Given the description of an element on the screen output the (x, y) to click on. 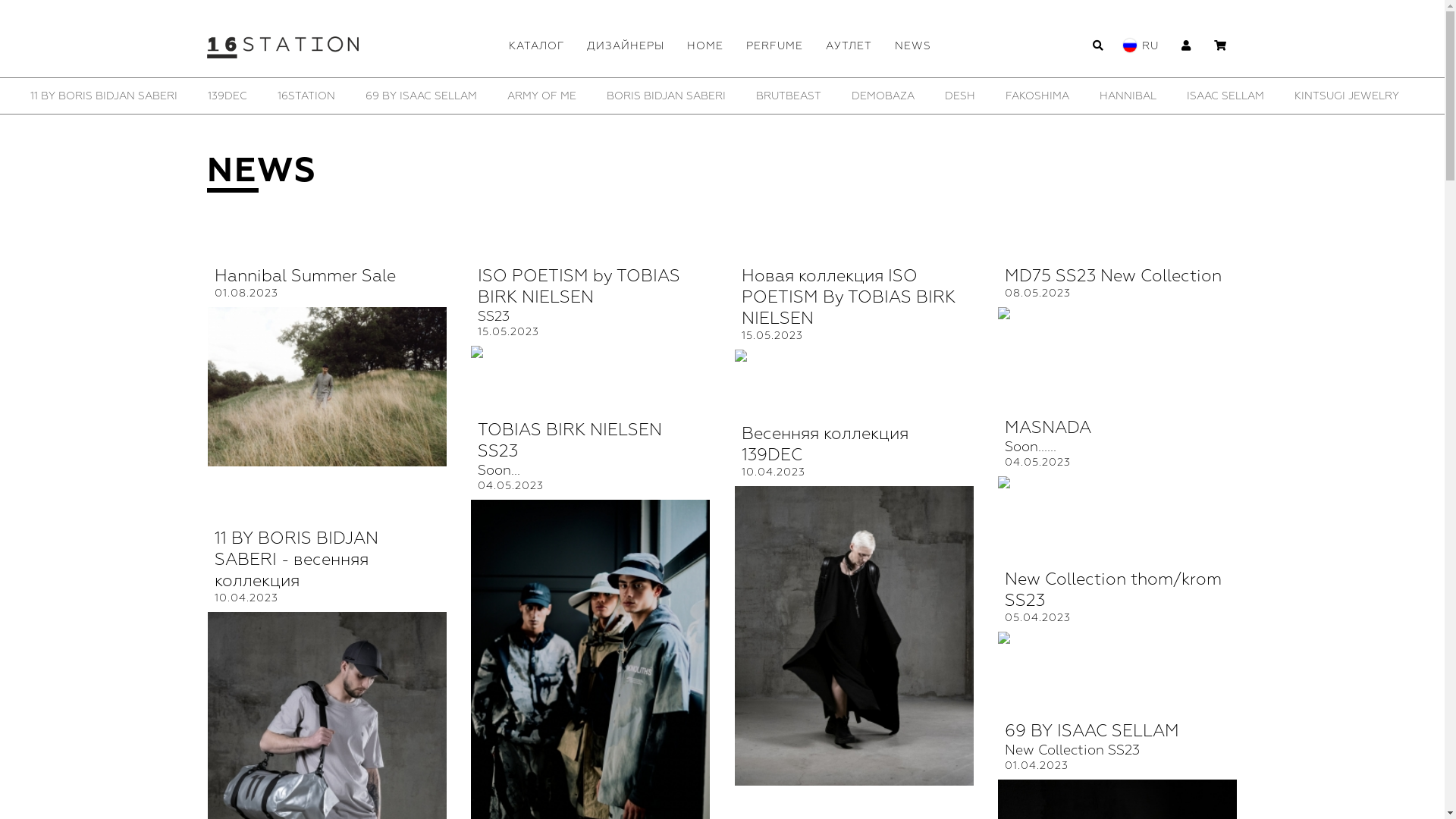
MASTER BO Element type: text (572, 95)
RU Element type: text (1149, 45)
MAD ET LEN Element type: text (392, 95)
PHILIPPE MODEL Element type: text (1045, 95)
NUTSA MODEBADZE Element type: text (862, 95)
NEWS Element type: text (911, 45)
MWM Element type: text (710, 95)
ROOMERS FURNITURE Element type: text (1308, 95)
HANNIBAL Element type: text (58, 95)
MD75 Element type: text (650, 95)
OSS Element type: text (958, 95)
ISAAC SELLAM Element type: text (156, 95)
REINHARD PLANK Element type: text (1169, 95)
HOME Element type: text (704, 45)
KINTSUGI JEWELRY Element type: text (277, 95)
PERFUME Element type: text (773, 45)
NKS Element type: text (766, 95)
MASNADA Element type: text (482, 95)
